Given the description of an element on the screen output the (x, y) to click on. 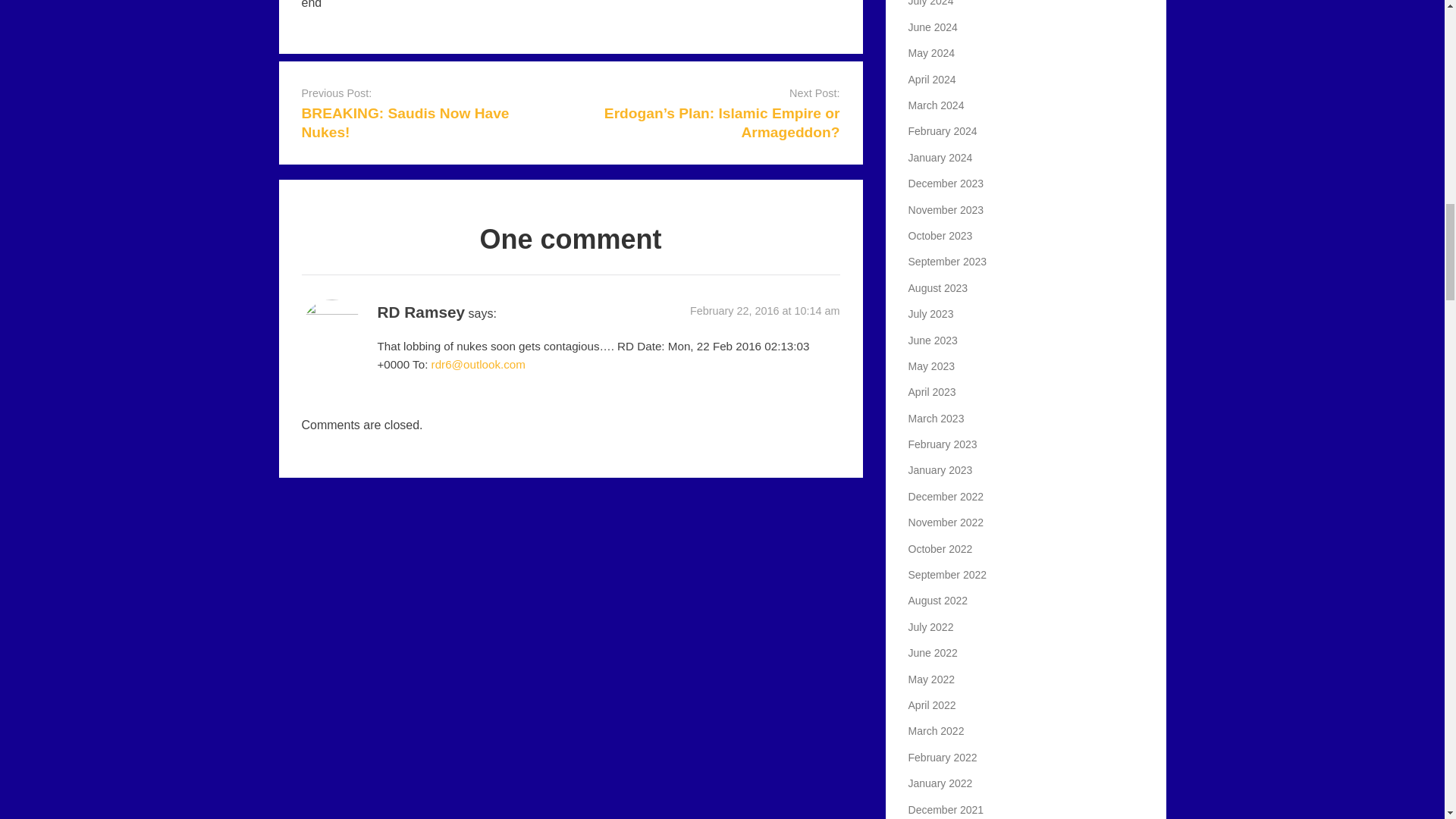
June 2024 (933, 27)
February 22, 2016 at 10:14 am (765, 310)
May 2024 (931, 52)
March 2024 (935, 105)
February 2024 (942, 131)
BREAKING: Saudis Now Have Nukes! (405, 122)
July 2024 (930, 3)
April 2024 (932, 79)
